Given the description of an element on the screen output the (x, y) to click on. 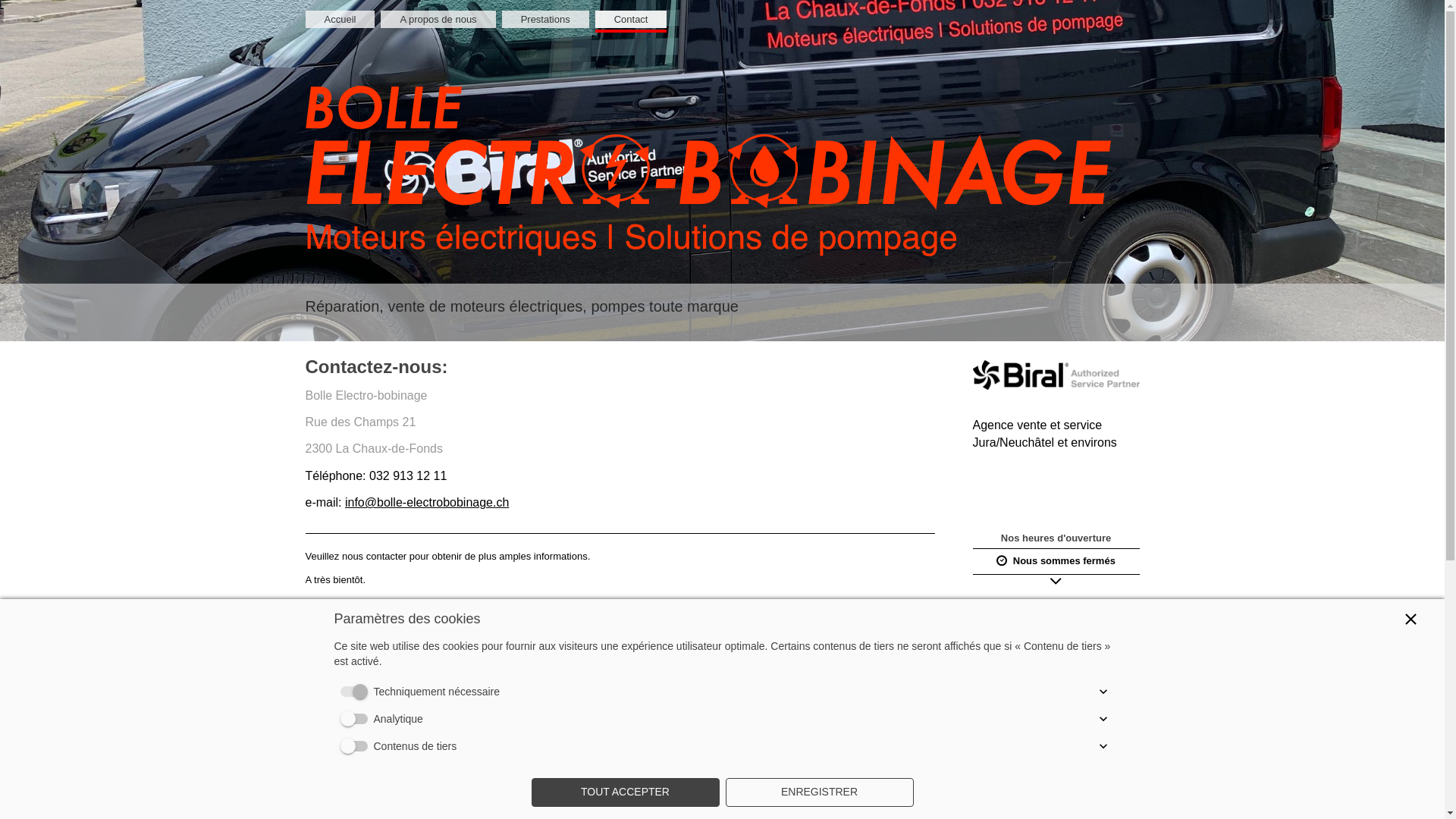
Veuillez renseigner tous les champs obligatoires. Element type: hover (743, 715)
Accueil Element type: text (339, 19)
Veuillez renseigner tous les champs obligatoires. Element type: hover (743, 752)
Veuillez renseigner tous les champs obligatoires. Element type: hover (743, 639)
TOUT ACCEPTER Element type: text (624, 792)
ENREGISTRER Element type: text (818, 792)
Veuillez renseigner tous les champs obligatoires. Element type: hover (743, 677)
A propos de nous Element type: text (437, 19)
info@bolle-electrobobinage.ch Element type: text (426, 501)
Contact Element type: text (631, 19)
Prestations Element type: text (545, 19)
